Given the description of an element on the screen output the (x, y) to click on. 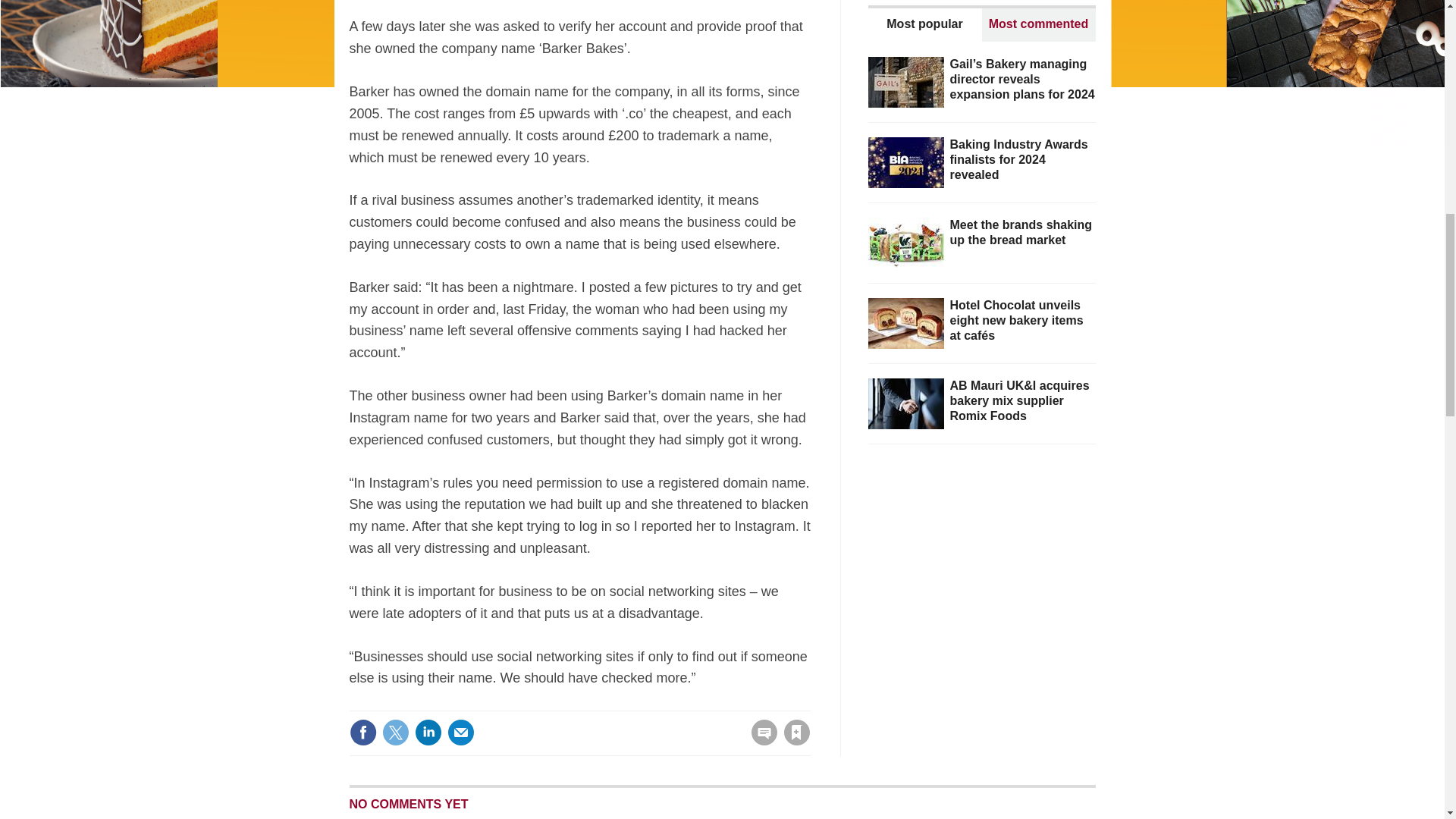
Share this on Twitter (395, 732)
Share this on Linked in (427, 732)
No comments (759, 741)
Email this article (460, 732)
Share this on Facebook (362, 732)
